Given the description of an element on the screen output the (x, y) to click on. 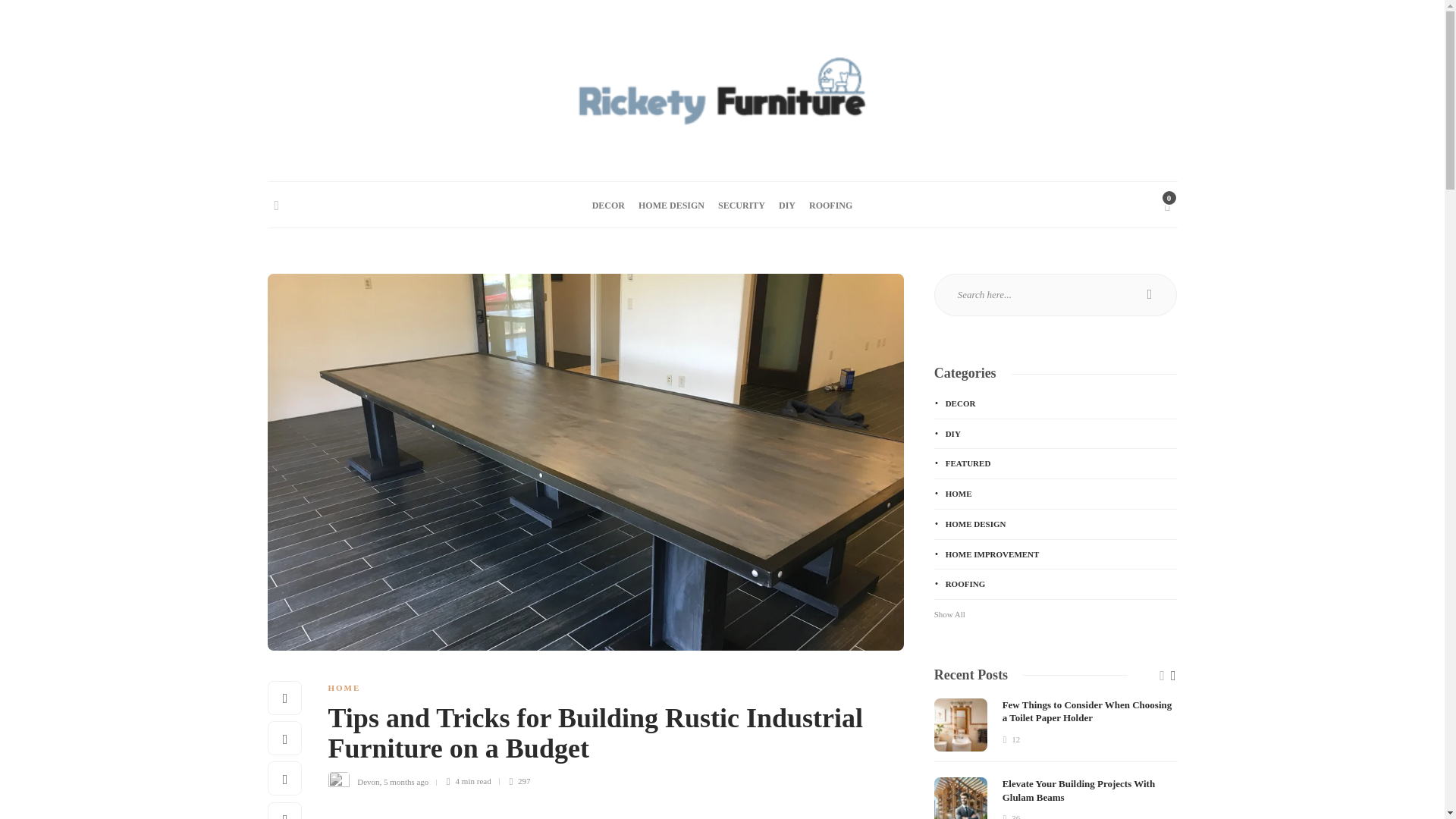
ROOFING (830, 204)
5 months ago (406, 780)
Search text (1055, 294)
Devon (367, 780)
HOME DESIGN (671, 204)
SECURITY (741, 204)
HOME (343, 687)
